Given the description of an element on the screen output the (x, y) to click on. 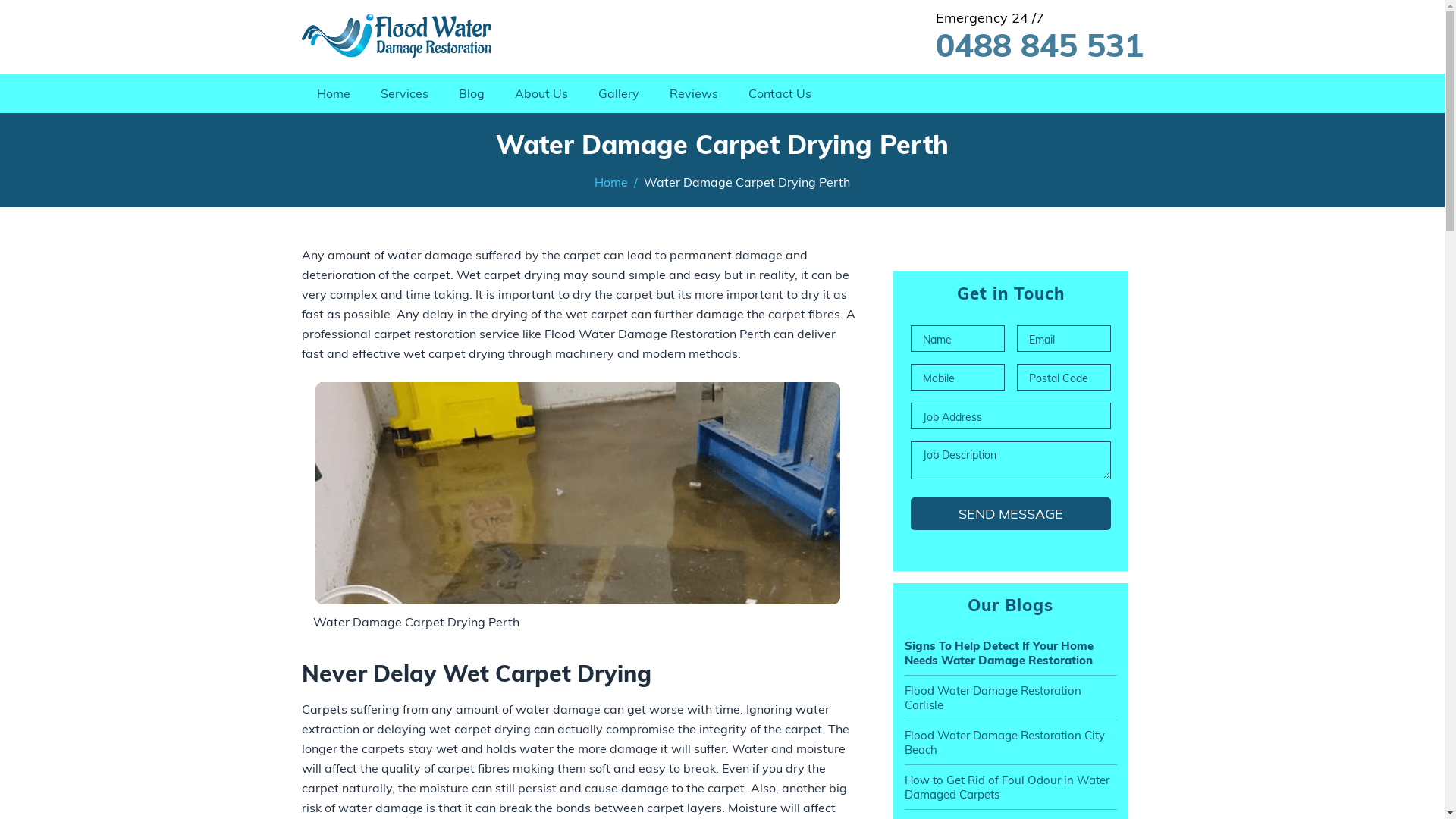
Services Element type: text (404, 93)
About Us Element type: text (540, 93)
Contact Us Element type: text (778, 93)
Home Element type: text (333, 93)
How to Get Rid of Foul Odour in Water Damaged Carpets Element type: text (1009, 786)
Flood Water Damage Restoration City Beach Element type: text (1009, 742)
Flood Water Damage Restoration Carlisle Element type: text (1009, 697)
Gallery Element type: text (617, 93)
Home Element type: text (610, 181)
Blog Element type: text (470, 93)
Send Message Element type: text (1010, 513)
Reviews Element type: text (692, 93)
Emergency 24 /7
0488 845 531 Element type: text (1016, 35)
